Given the description of an element on the screen output the (x, y) to click on. 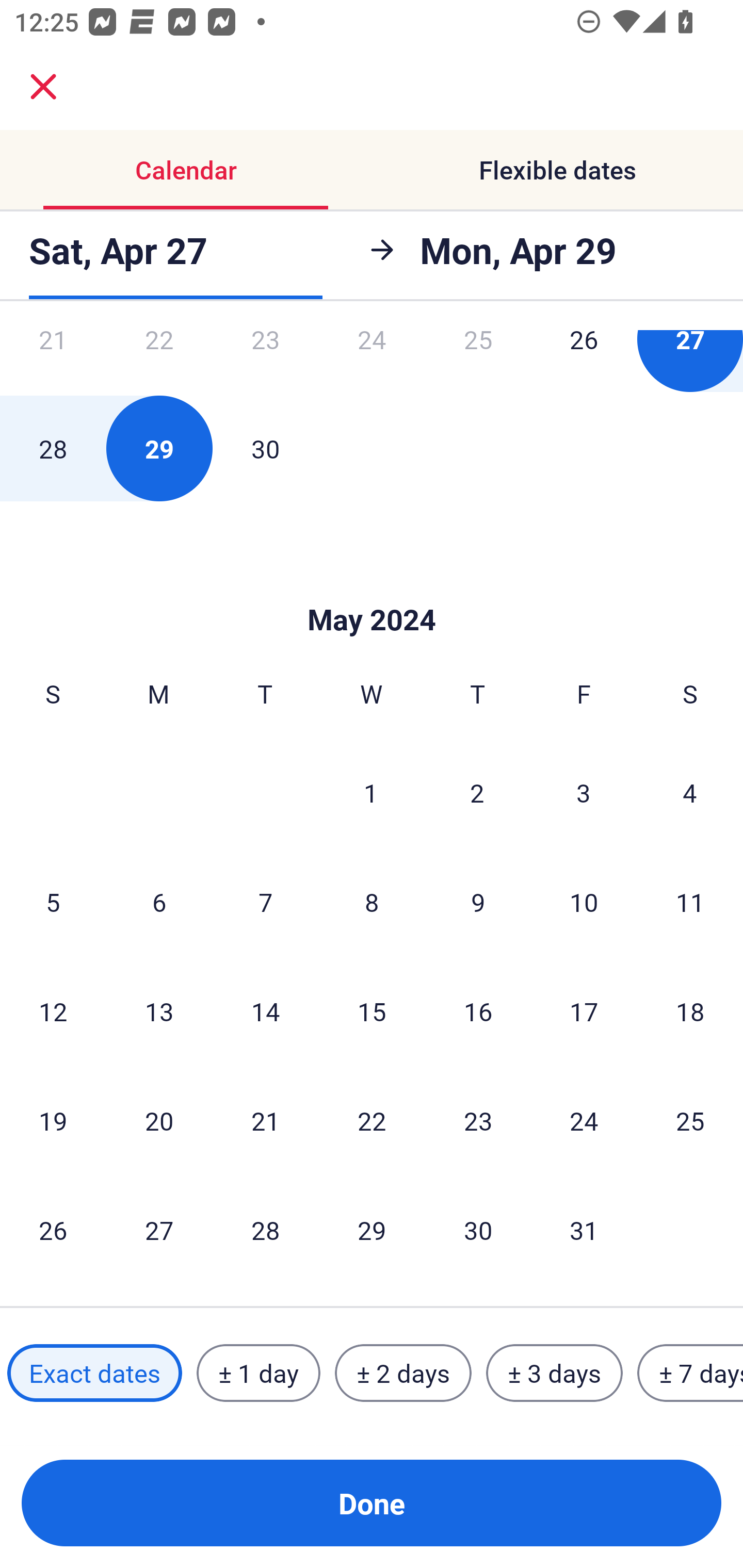
close. (43, 86)
Flexible dates (557, 170)
21 Sunday, April 21, 2024 (53, 361)
22 Monday, April 22, 2024 (159, 361)
23 Tuesday, April 23, 2024 (265, 361)
24 Wednesday, April 24, 2024 (371, 361)
25 Thursday, April 25, 2024 (477, 361)
26 Friday, April 26, 2024 (584, 361)
30 Tuesday, April 30, 2024 (265, 448)
Skip to Done (371, 588)
1 Wednesday, May 1, 2024 (371, 792)
2 Thursday, May 2, 2024 (477, 792)
3 Friday, May 3, 2024 (583, 792)
4 Saturday, May 4, 2024 (689, 792)
5 Sunday, May 5, 2024 (53, 901)
6 Monday, May 6, 2024 (159, 901)
7 Tuesday, May 7, 2024 (265, 901)
8 Wednesday, May 8, 2024 (371, 901)
9 Thursday, May 9, 2024 (477, 901)
10 Friday, May 10, 2024 (584, 901)
11 Saturday, May 11, 2024 (690, 901)
12 Sunday, May 12, 2024 (53, 1011)
13 Monday, May 13, 2024 (159, 1011)
14 Tuesday, May 14, 2024 (265, 1011)
15 Wednesday, May 15, 2024 (371, 1011)
16 Thursday, May 16, 2024 (477, 1011)
17 Friday, May 17, 2024 (584, 1011)
18 Saturday, May 18, 2024 (690, 1011)
19 Sunday, May 19, 2024 (53, 1119)
20 Monday, May 20, 2024 (159, 1119)
21 Tuesday, May 21, 2024 (265, 1119)
22 Wednesday, May 22, 2024 (371, 1119)
23 Thursday, May 23, 2024 (477, 1119)
24 Friday, May 24, 2024 (584, 1119)
25 Saturday, May 25, 2024 (690, 1119)
26 Sunday, May 26, 2024 (53, 1229)
27 Monday, May 27, 2024 (159, 1229)
28 Tuesday, May 28, 2024 (265, 1229)
29 Wednesday, May 29, 2024 (371, 1229)
30 Thursday, May 30, 2024 (477, 1229)
31 Friday, May 31, 2024 (584, 1229)
Exact dates (94, 1372)
± 1 day (258, 1372)
± 2 days (403, 1372)
± 3 days (553, 1372)
± 7 days (690, 1372)
Done (371, 1502)
